Given the description of an element on the screen output the (x, y) to click on. 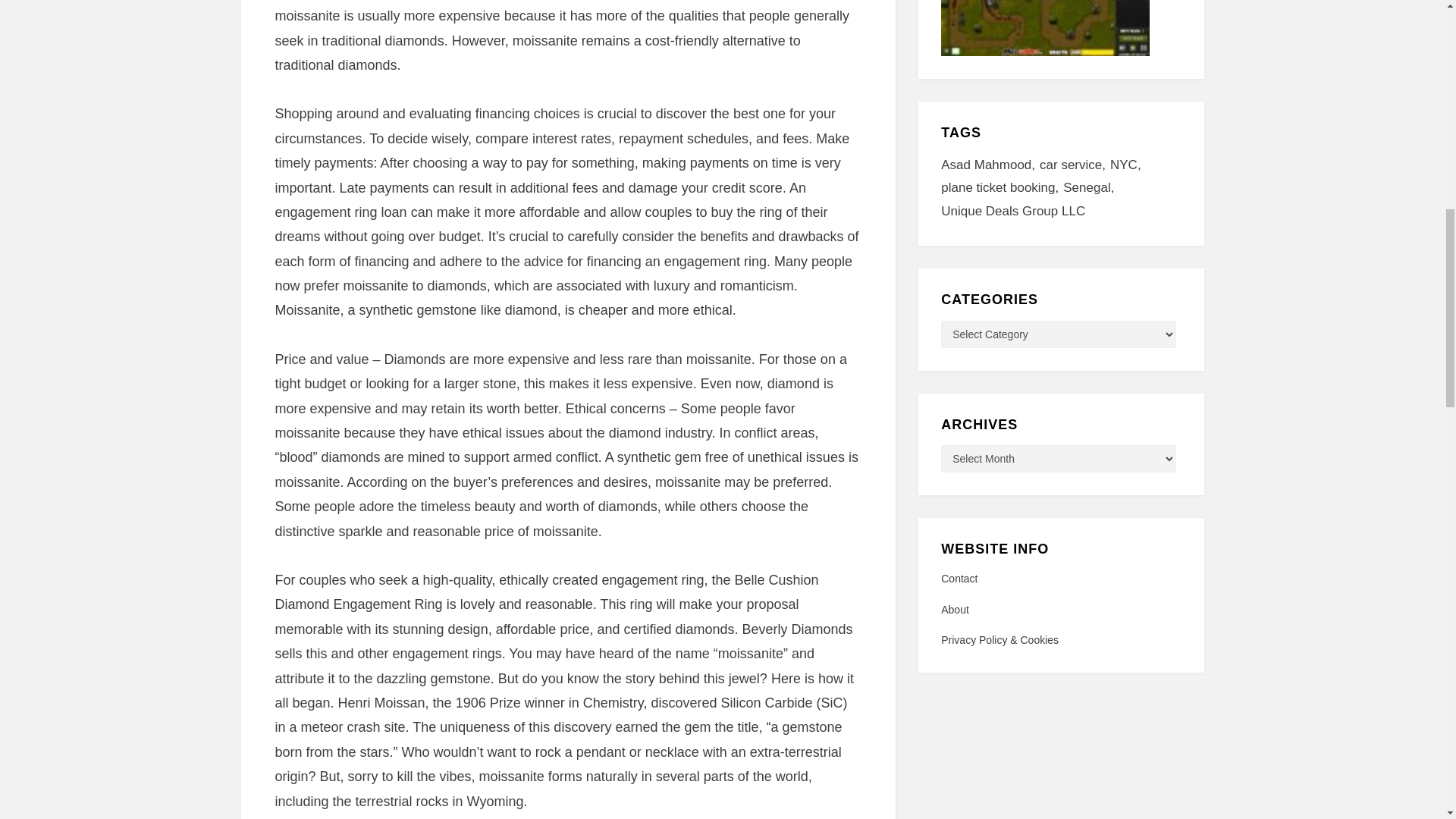
car service (1074, 165)
Unique Deals Group LLC (1012, 211)
Senegal (1090, 187)
About (1060, 609)
NYC (1127, 165)
plane ticket booking (1001, 187)
Asad Mahmood (989, 165)
Contact (1060, 578)
